Given the description of an element on the screen output the (x, y) to click on. 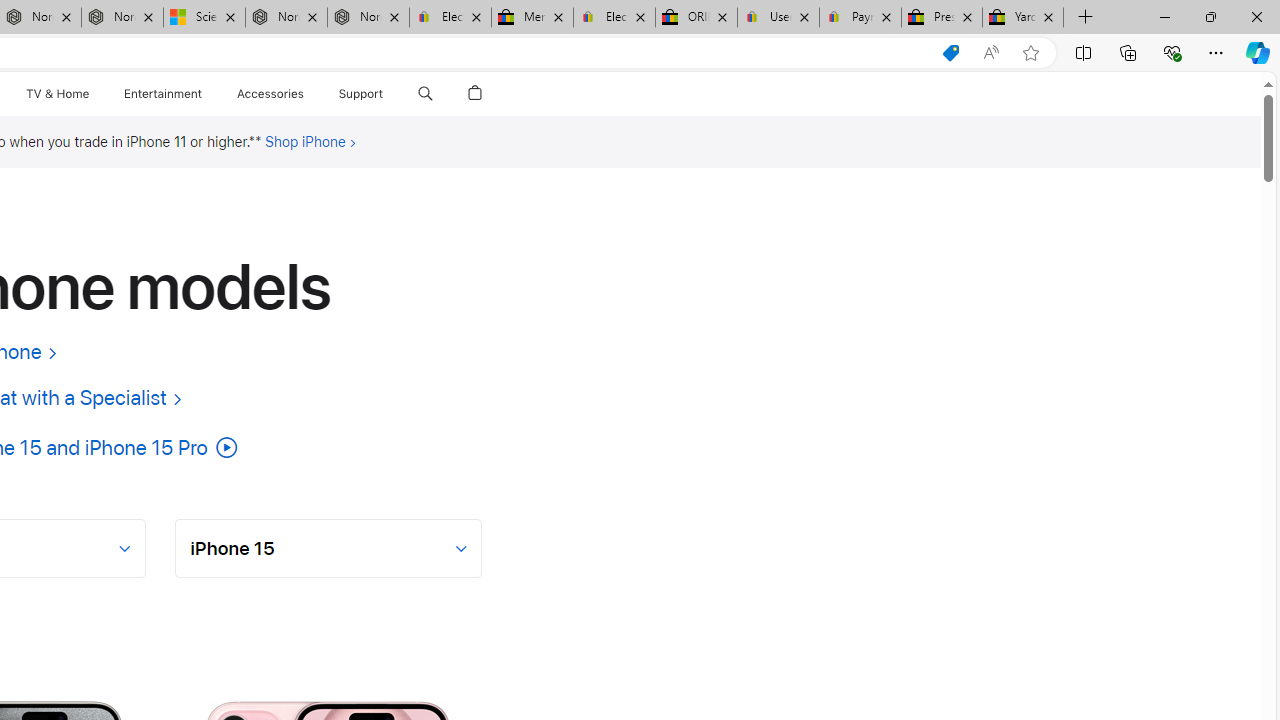
Search apple.com (425, 93)
Class: globalnav-submenu-trigger-item (387, 93)
Entertainment menu (205, 93)
TV & Home (56, 93)
Class: globalnav-item globalnav-search shift-0-1 (425, 93)
